Given the description of an element on the screen output the (x, y) to click on. 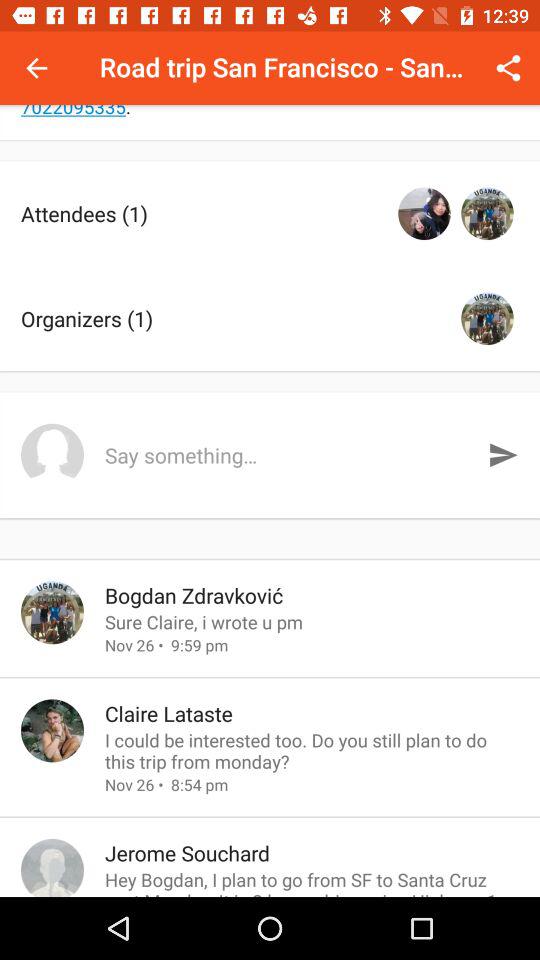
flip to sure claire i icon (312, 621)
